Given the description of an element on the screen output the (x, y) to click on. 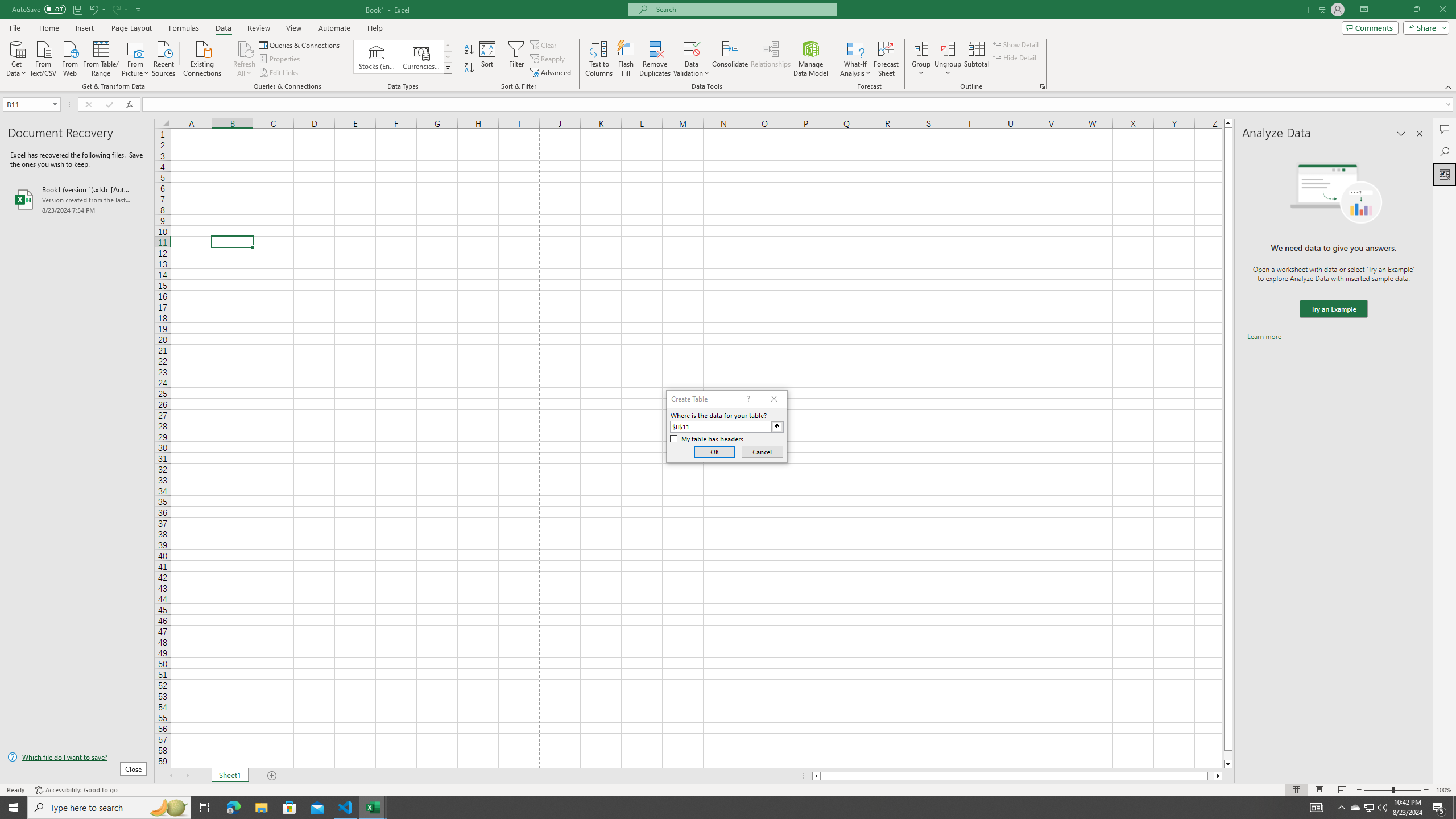
Restore Down (1416, 9)
Subtotal (976, 58)
Consolidate... (729, 58)
Zoom Out (1377, 790)
File Tab (15, 27)
Search (1444, 151)
View (293, 28)
Existing Connections (202, 57)
Learn more (1264, 336)
Analyze Data (1444, 173)
Currencies (English) (420, 56)
Line up (1228, 122)
Scroll Left (171, 775)
Show Detail (1016, 44)
Recent Sources (163, 57)
